Given the description of an element on the screen output the (x, y) to click on. 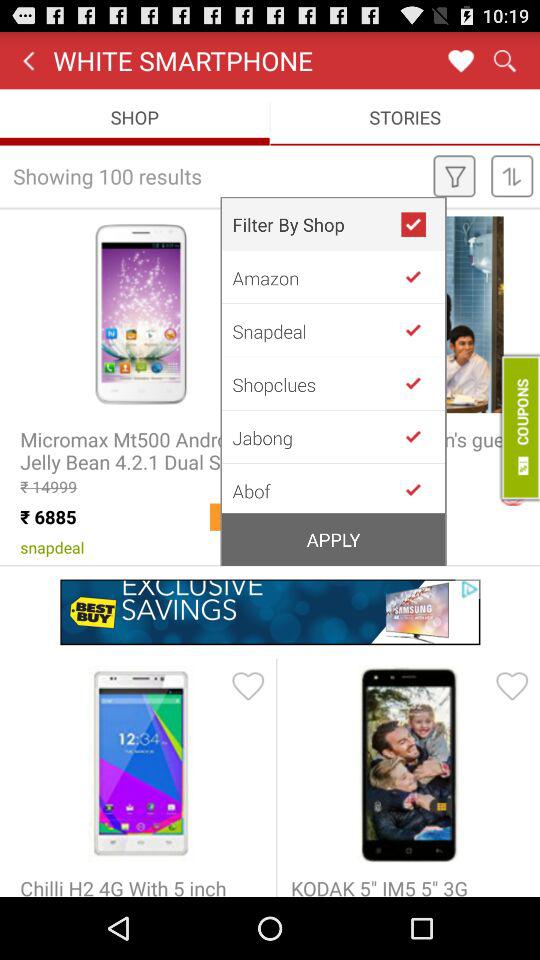
select the company you want to see products from (421, 488)
